Given the description of an element on the screen output the (x, y) to click on. 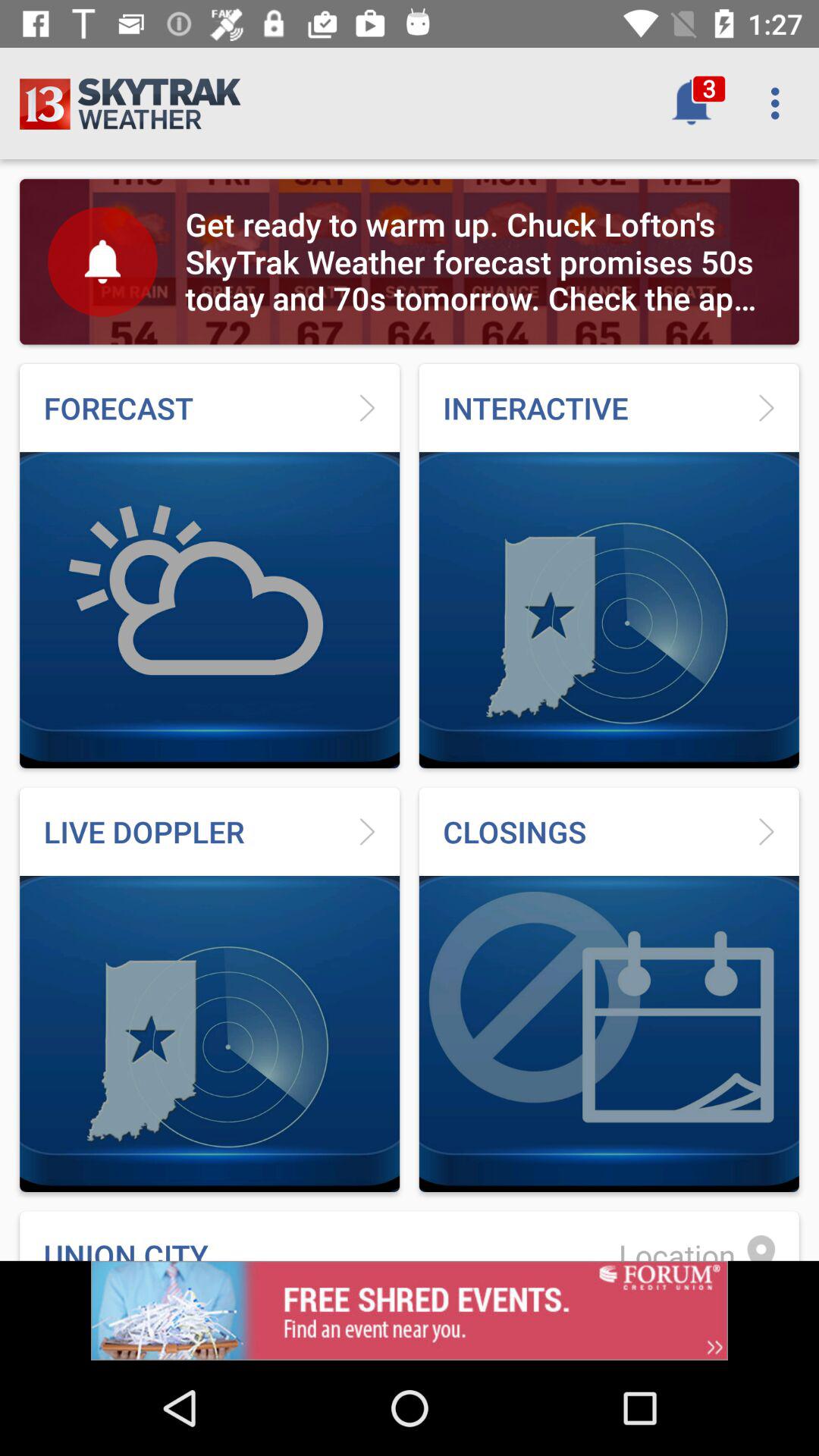
select the first image  below forecast (209, 609)
select the image under the text closing (609, 1034)
select the bell button which is left to menu button (691, 103)
click closings box (609, 989)
click on the forecast option (209, 566)
go to alarm on the second row (102, 261)
